Given the description of an element on the screen output the (x, y) to click on. 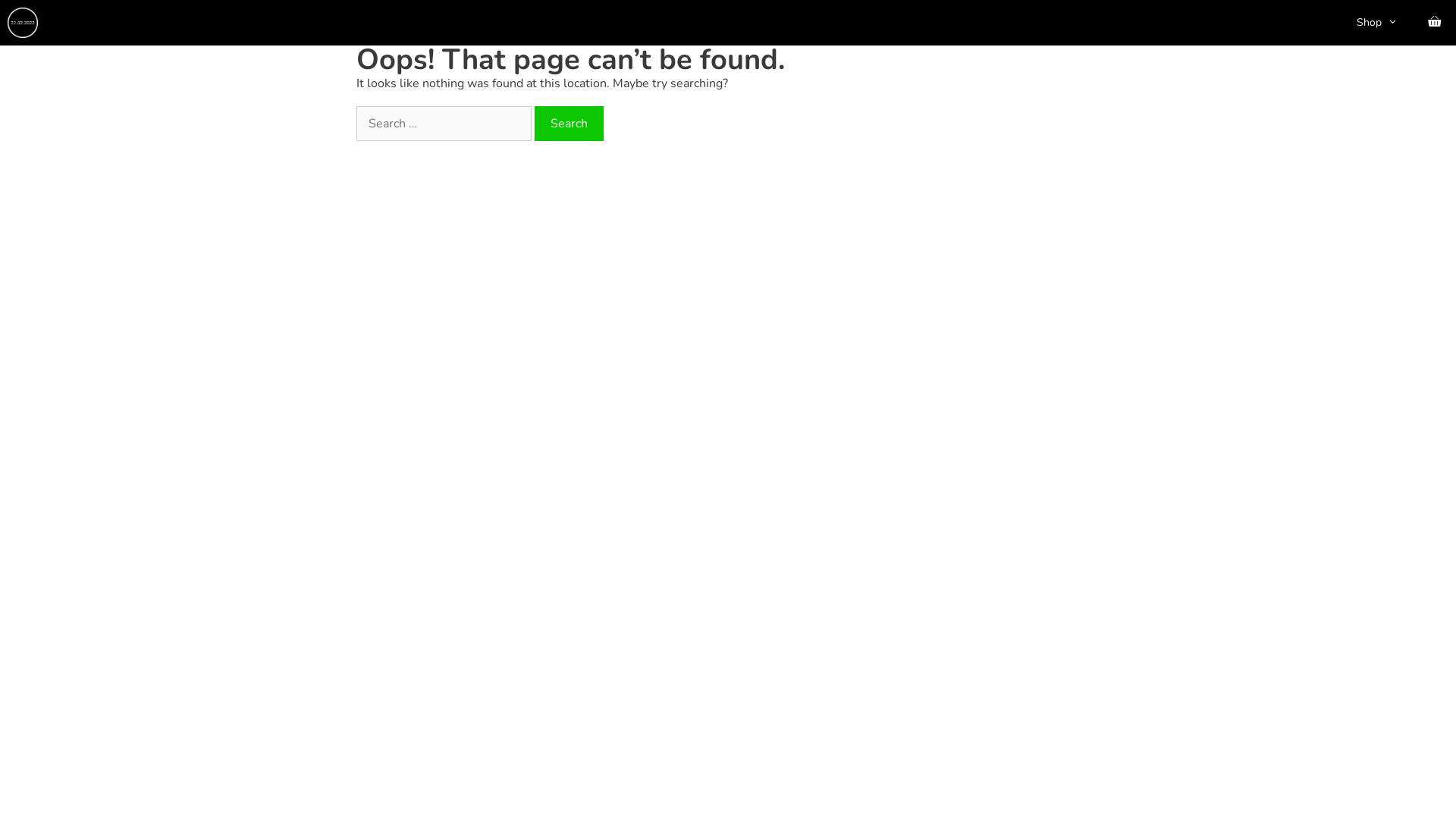
Shop Element type: text (1376, 22)
Search for: Element type: hover (443, 123)
MatheMagical dates & countdowns Element type: hover (22, 22)
MatheMagical dates & countdowns Element type: hover (26, 22)
Search Element type: text (568, 123)
